Given the description of an element on the screen output the (x, y) to click on. 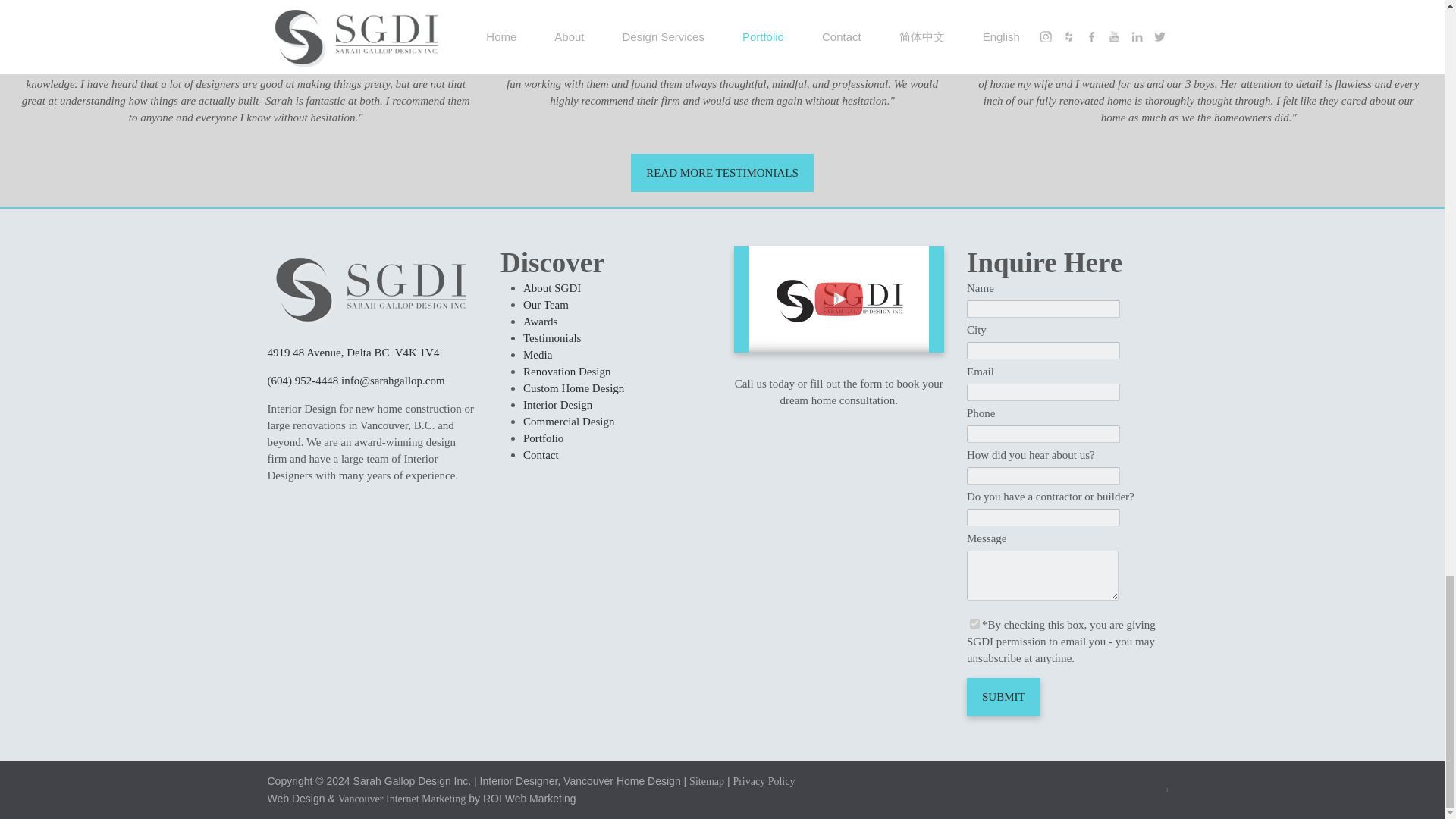
1 (974, 623)
Submit (1003, 696)
